Given the description of an element on the screen output the (x, y) to click on. 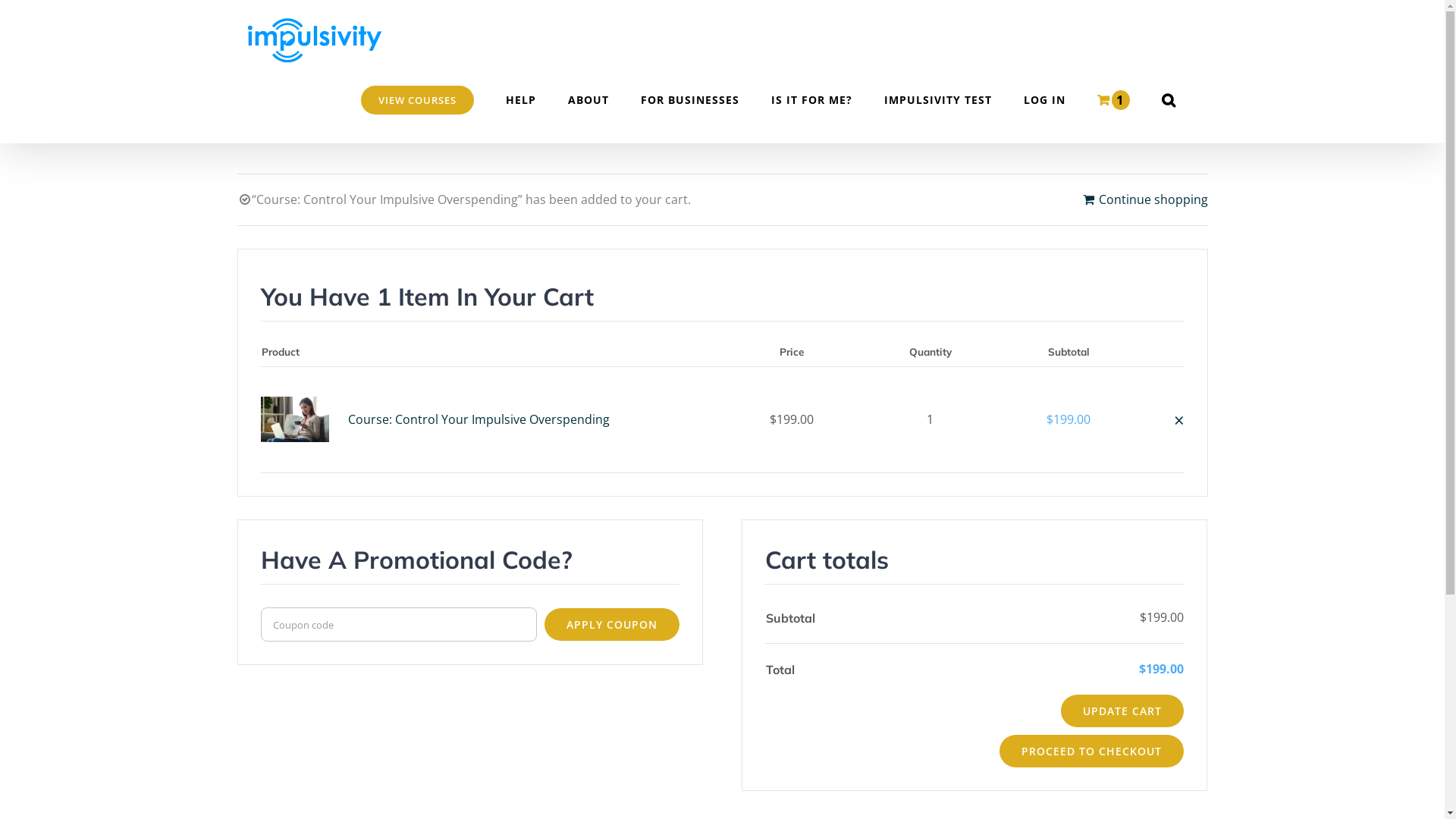
Course: Control Your Impulsive Overspending Element type: text (477, 419)
FOR BUSINESSES Element type: text (689, 99)
Update cart Element type: text (321, 482)
1 Element type: text (1112, 99)
Continue shopping Element type: text (1145, 199)
ABOUT Element type: text (587, 99)
IS IT FOR ME? Element type: text (810, 99)
HELP Element type: text (520, 99)
Apply coupon Element type: text (350, 546)
LOG IN Element type: text (1044, 99)
PROCEED TO CHECKOUT Element type: text (1091, 750)
VIEW COURSES Element type: text (416, 99)
IMPULSIVITY TEST Element type: text (937, 99)
UPDATE CART Element type: text (1121, 710)
Search Element type: hover (1168, 99)
APPLY COUPON Element type: text (611, 624)
